Given the description of an element on the screen output the (x, y) to click on. 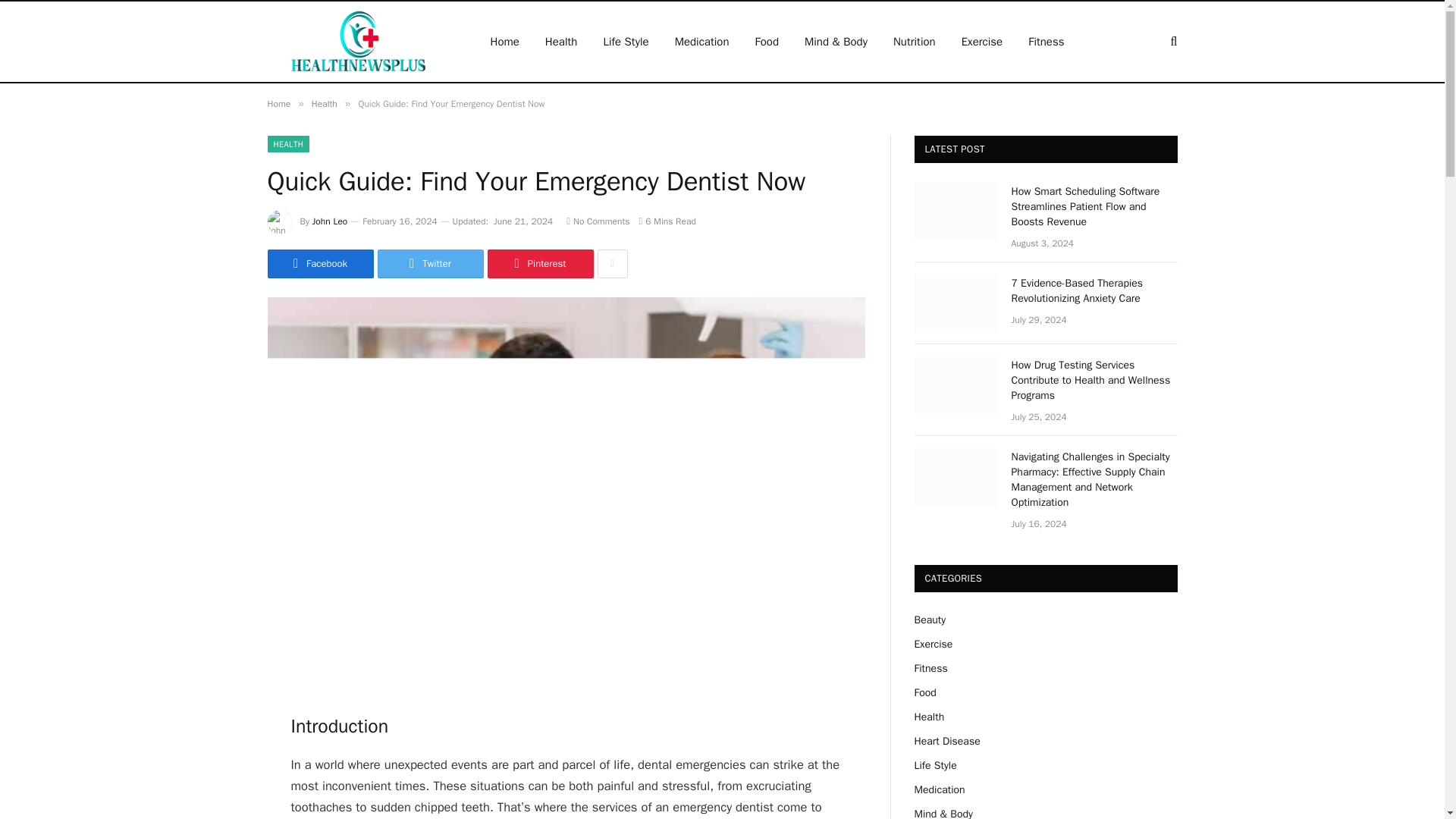
Healthnewsplus.net (357, 41)
No Comments (597, 221)
John Leo (330, 221)
Twitter (430, 263)
Share on Pinterest (539, 263)
HEALTH (287, 143)
Posts by John Leo (330, 221)
Health (324, 103)
Share on Facebook (319, 263)
Pinterest (539, 263)
